Given the description of an element on the screen output the (x, y) to click on. 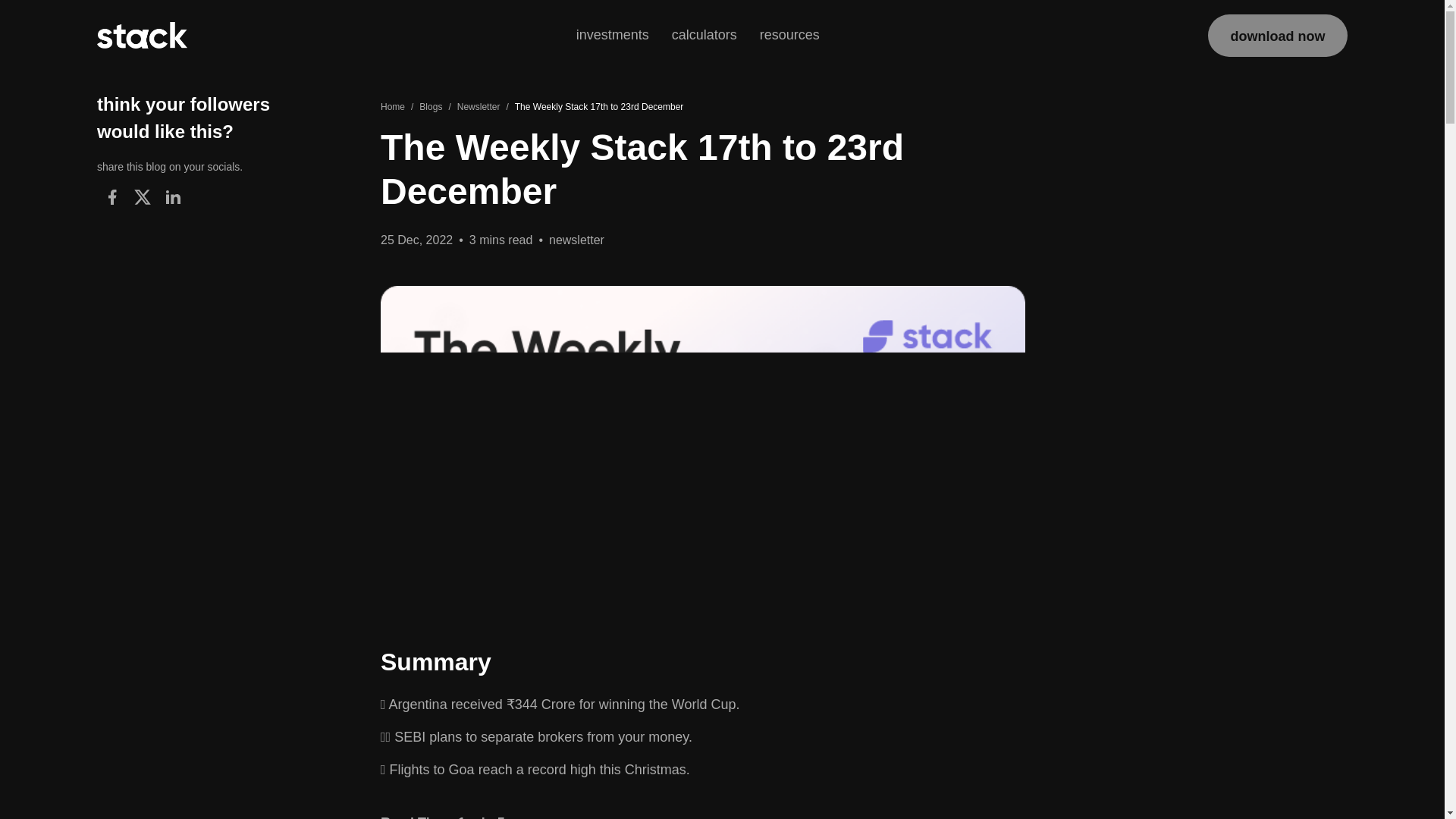
Blogs (430, 106)
calculators (703, 36)
Home (392, 106)
download now (1278, 34)
investments (612, 34)
Newsletter (478, 106)
resources (789, 34)
